Given the description of an element on the screen output the (x, y) to click on. 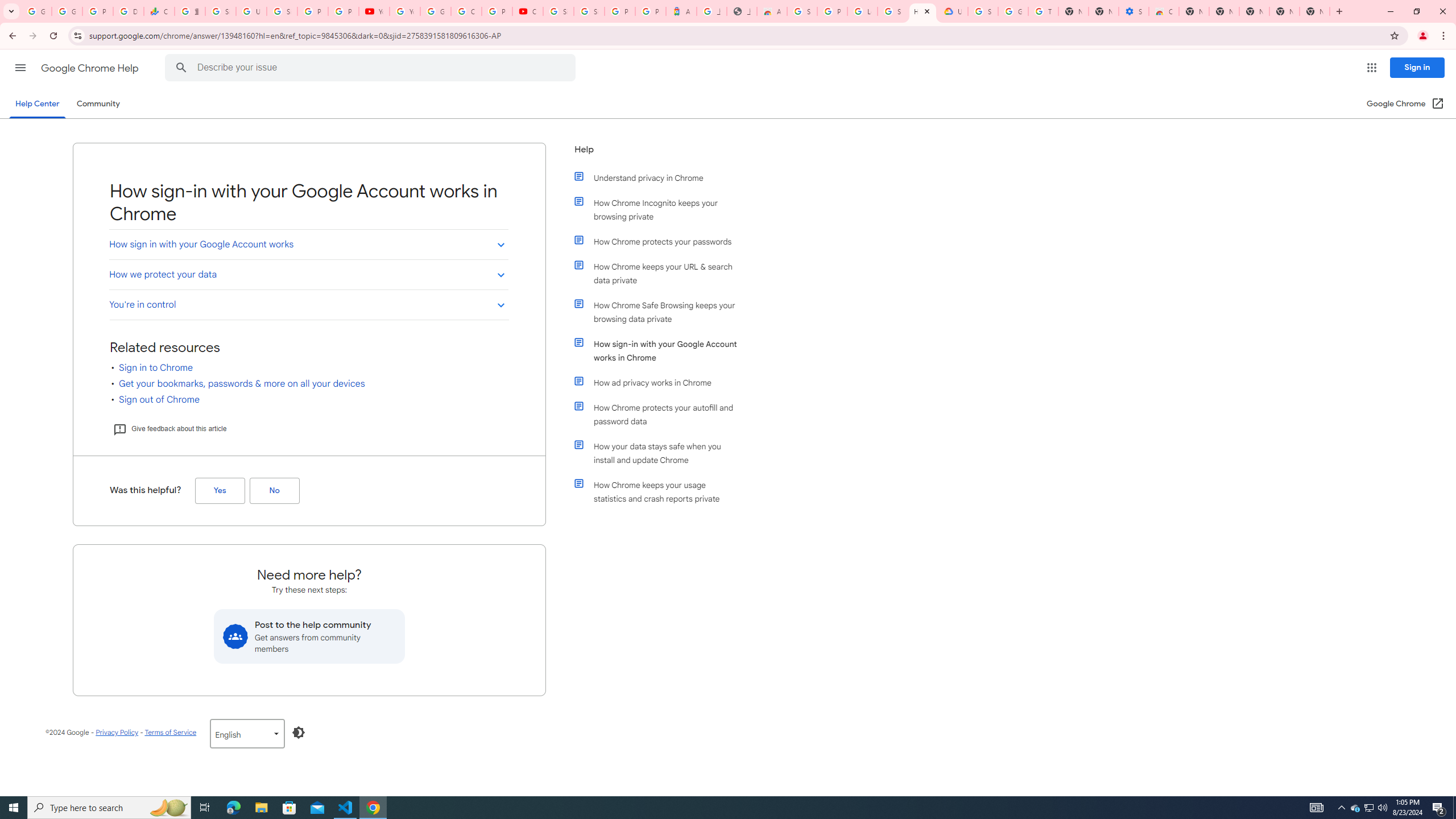
Privacy Checkup (343, 11)
Sign in - Google Accounts (892, 11)
Yes (Was this helpful?) (219, 490)
How Chrome Incognito keeps your browsing private (661, 209)
Community (97, 103)
